Given the description of an element on the screen output the (x, y) to click on. 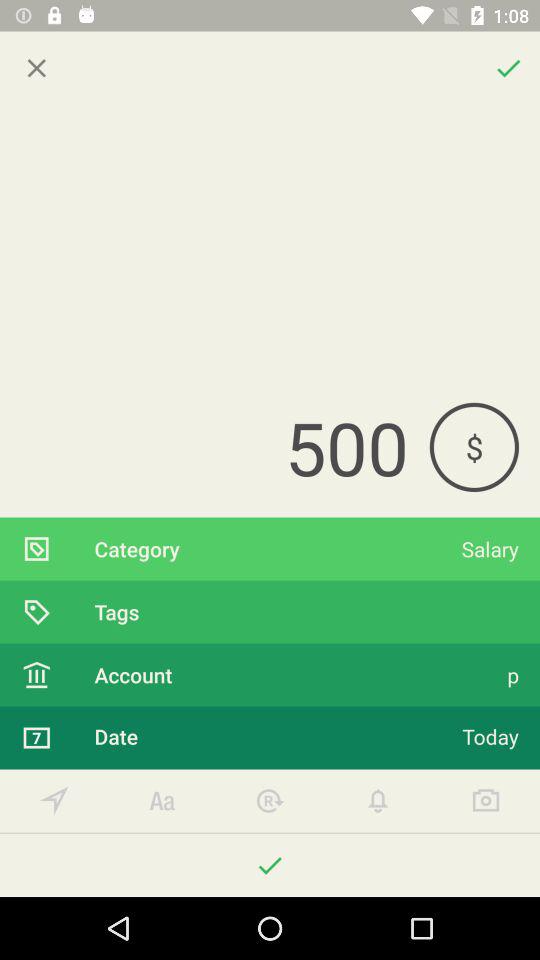
choose the 500 (214, 447)
